Given the description of an element on the screen output the (x, y) to click on. 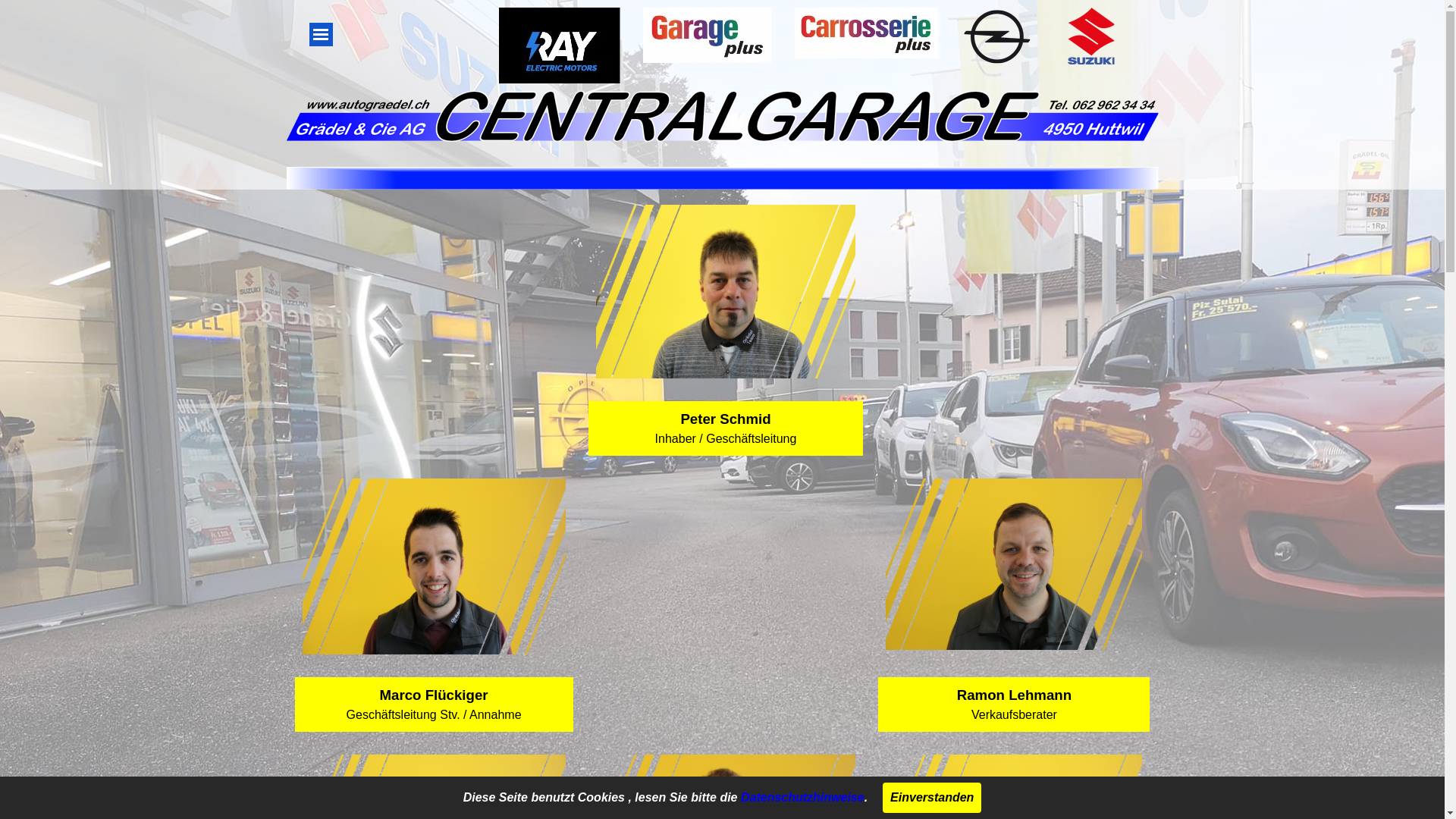
RAY Element type: hover (559, 50)
Datenschutzhinweise Element type: text (802, 796)
Carrosserie Plus Element type: hover (866, 32)
